Given the description of an element on the screen output the (x, y) to click on. 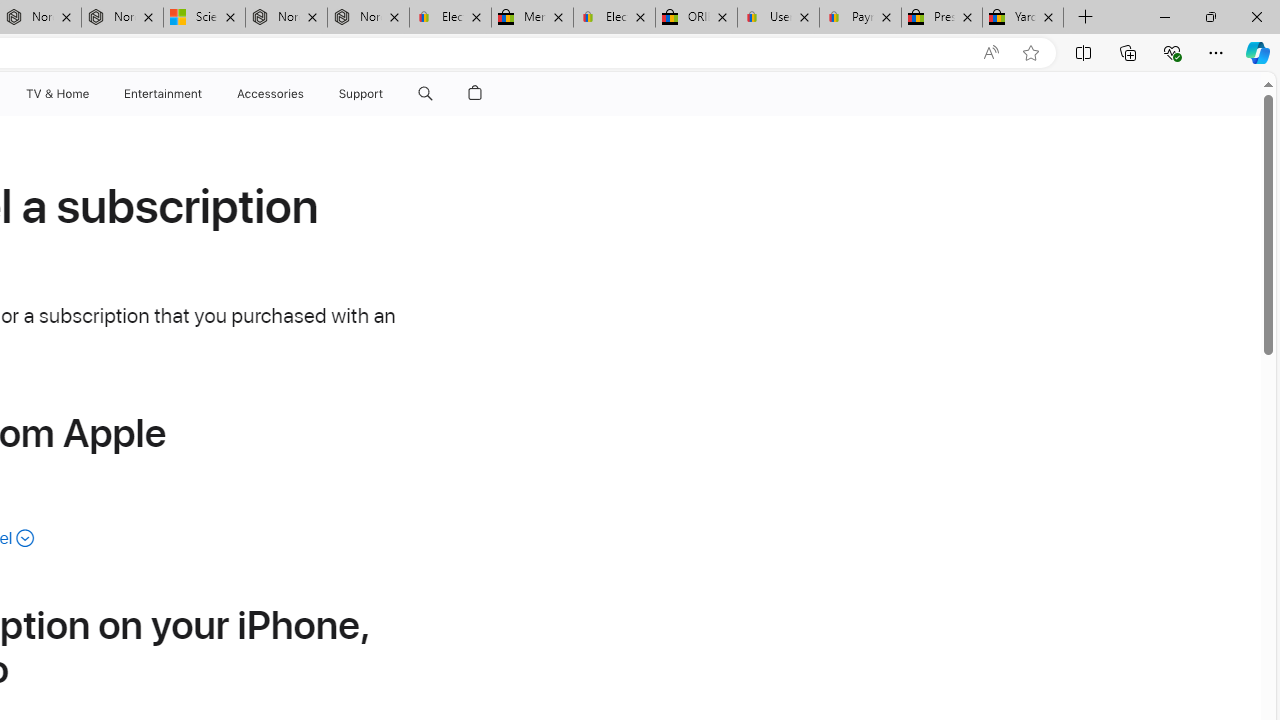
Accessories (269, 93)
Nordace - FAQ (368, 17)
User Privacy Notice | eBay (778, 17)
Payments Terms of Use | eBay.com (860, 17)
Yard, Garden & Outdoor Living (1023, 17)
Class: globalnav-submenu-trigger-item (387, 93)
AutomationID: globalnav-bag (475, 93)
Shopping Bag (475, 93)
